Given the description of an element on the screen output the (x, y) to click on. 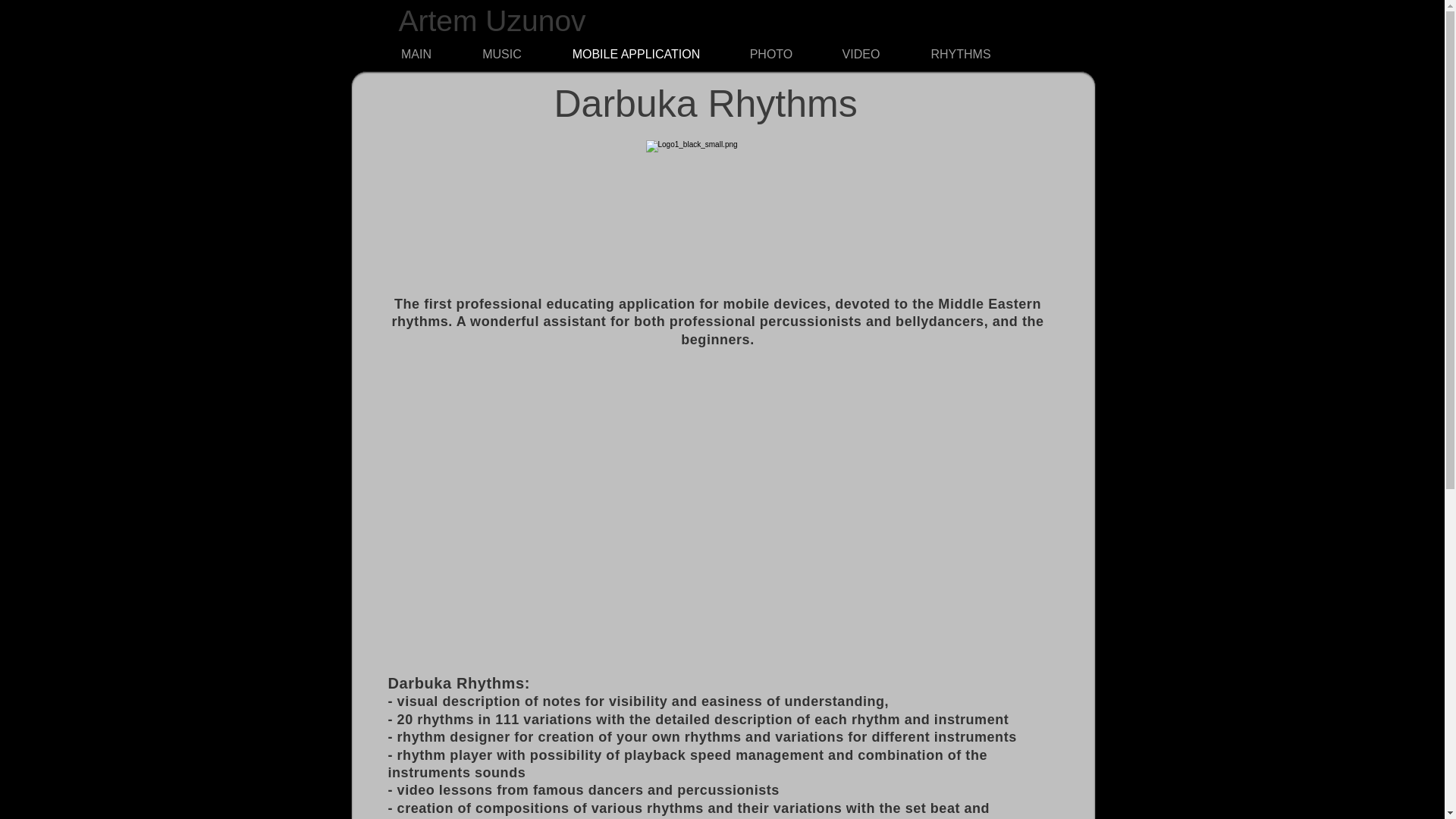
Artem Uzunov (492, 20)
VIDEO (860, 54)
RHYTHMS (960, 54)
MOBILE APPLICATION (636, 54)
MAIN (416, 54)
PHOTO (770, 54)
MUSIC (502, 54)
